Given the description of an element on the screen output the (x, y) to click on. 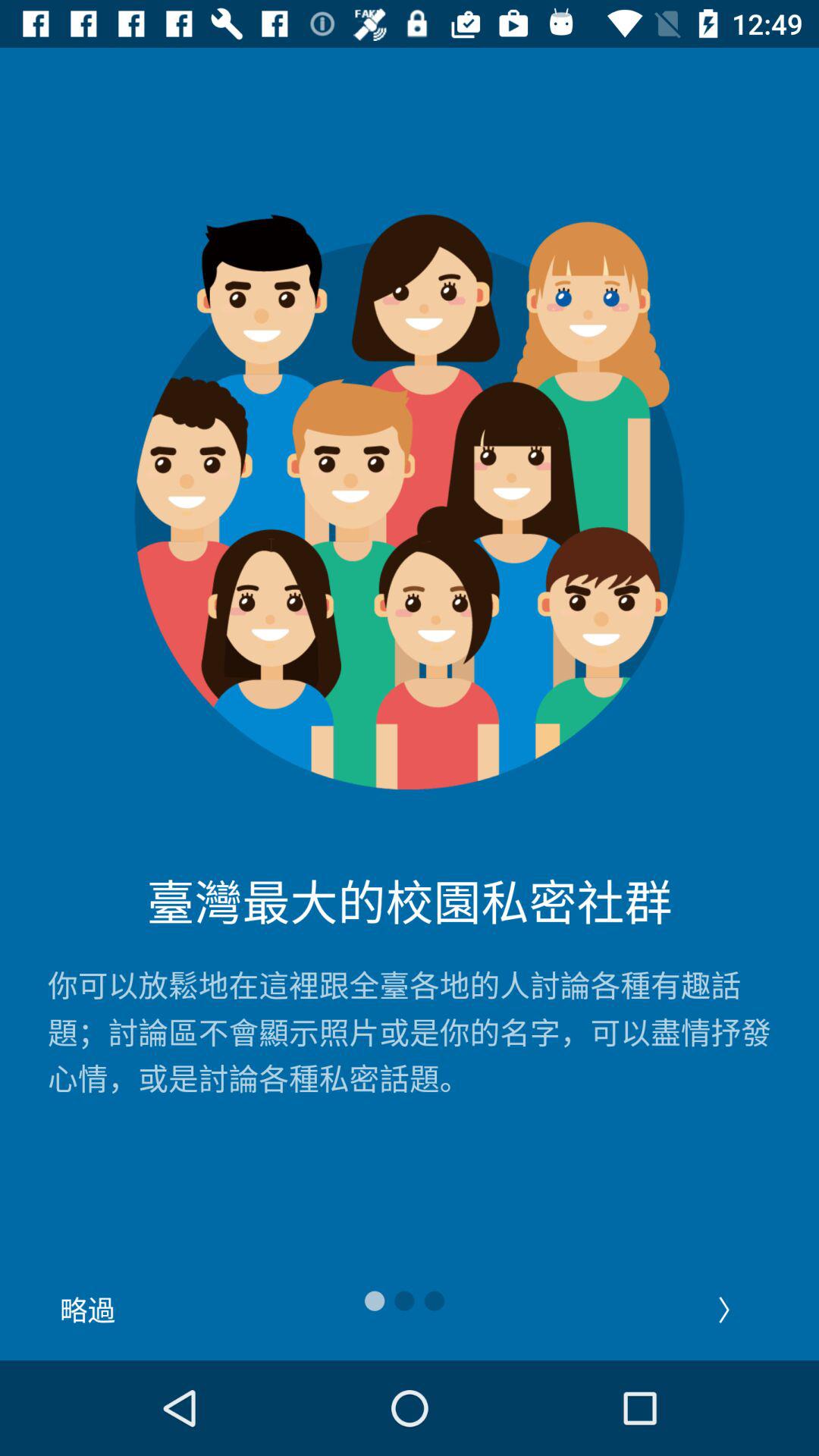
turn off the icon at the bottom right corner (731, 1309)
